Given the description of an element on the screen output the (x, y) to click on. 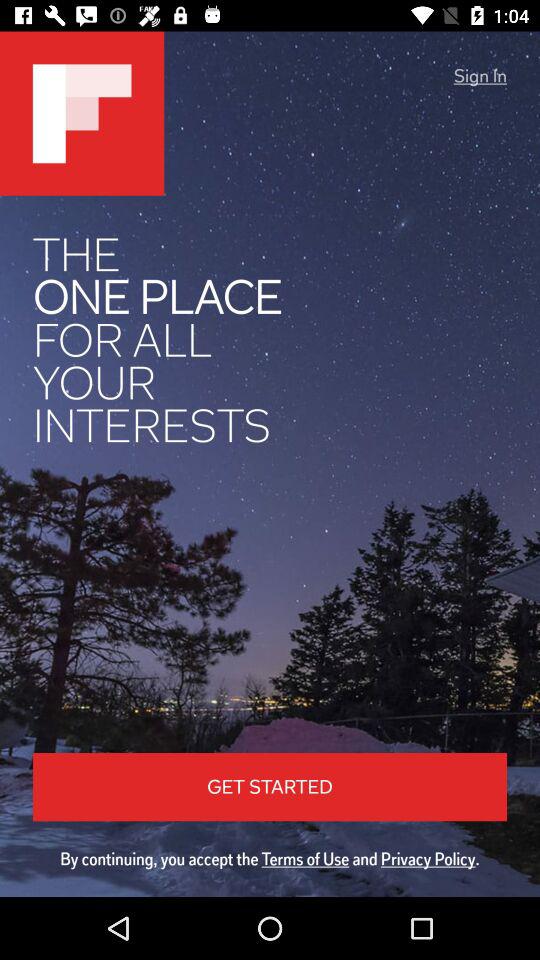
scroll to by continuing you (270, 858)
